Given the description of an element on the screen output the (x, y) to click on. 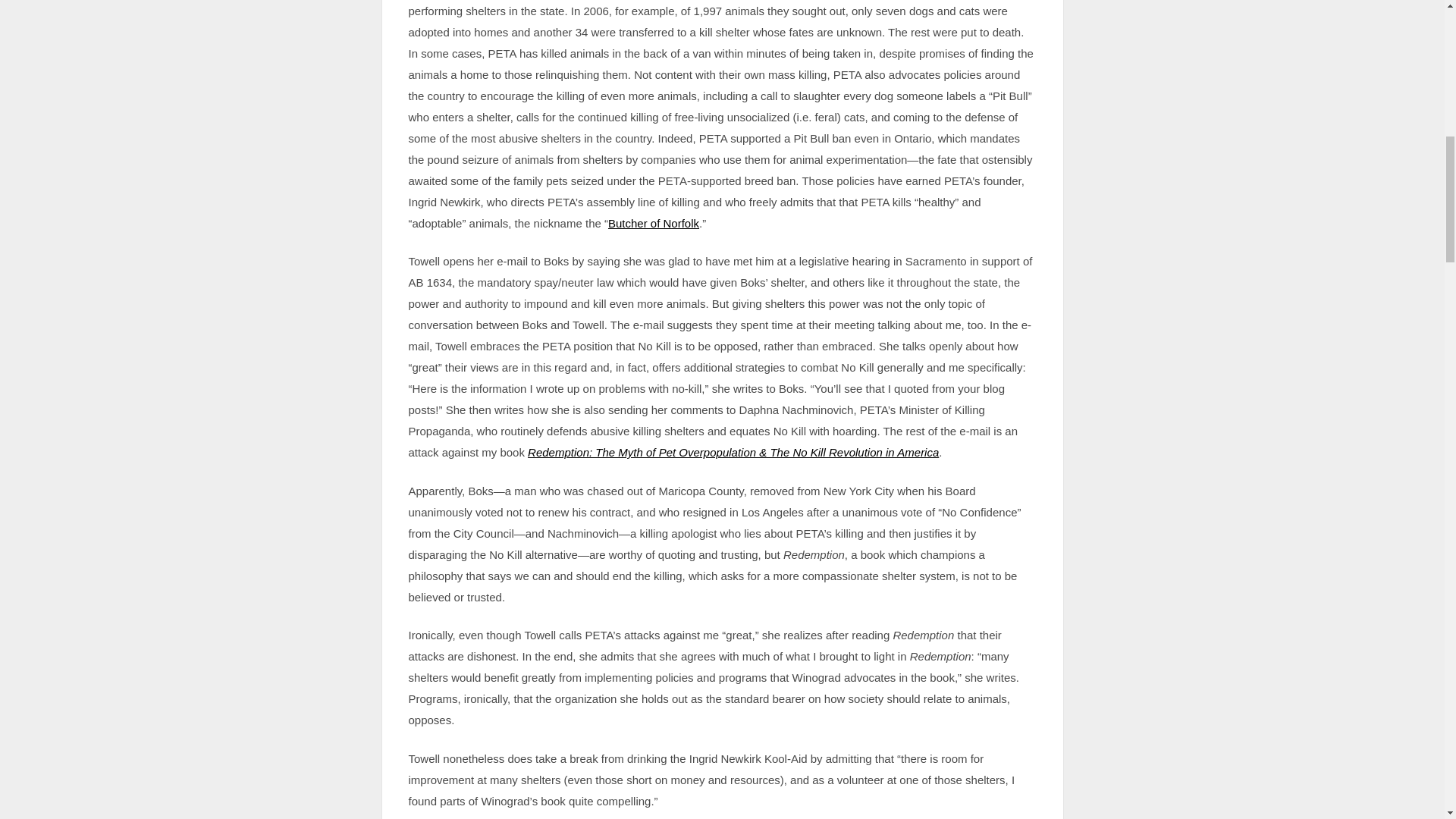
Butcher of Norfolk (653, 223)
